Given the description of an element on the screen output the (x, y) to click on. 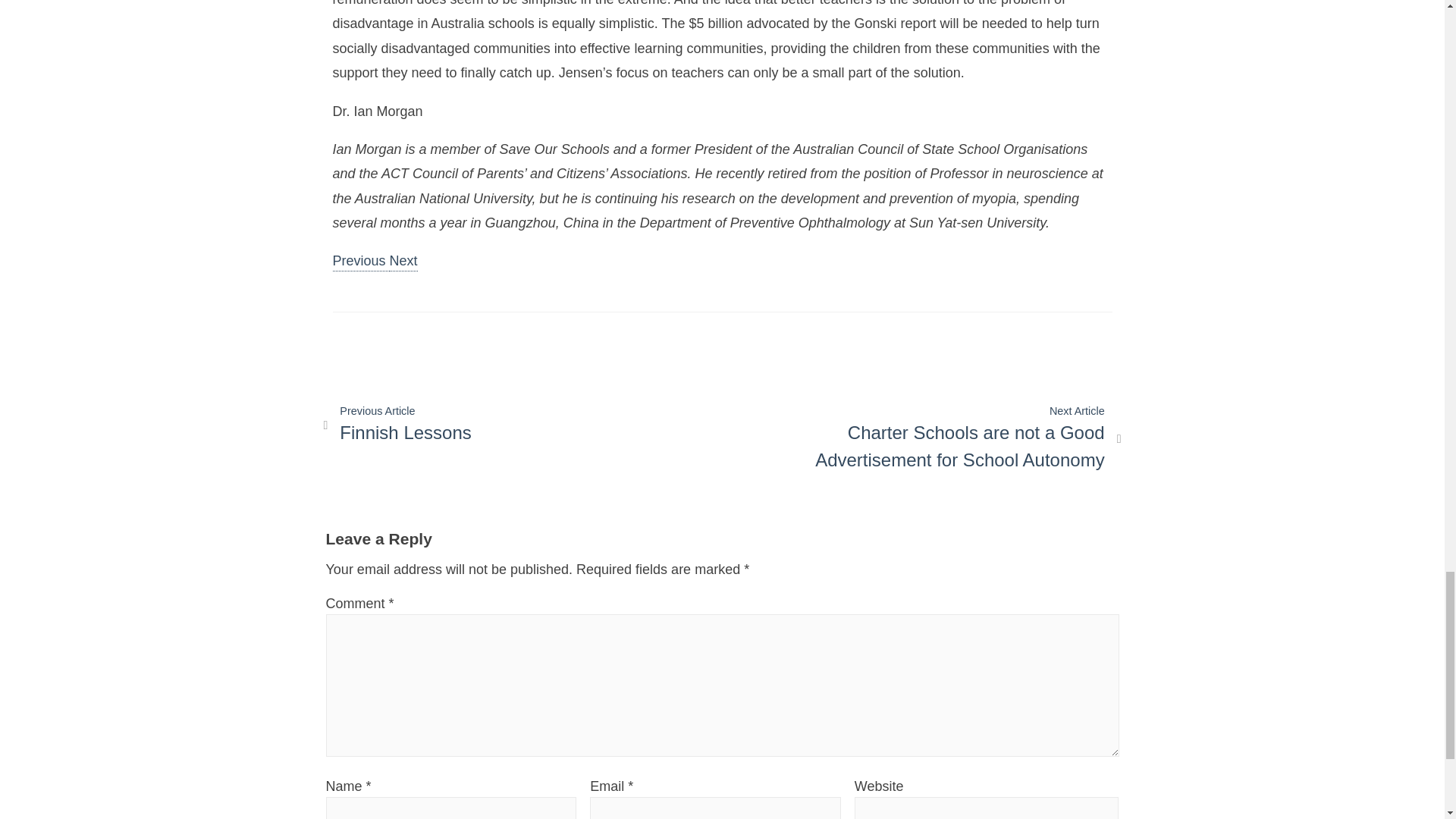
The View from Shanghai (359, 262)
Chaplaincy Program Pushes Against Secular Public Education (403, 262)
Previous (396, 425)
Next (359, 262)
